Given the description of an element on the screen output the (x, y) to click on. 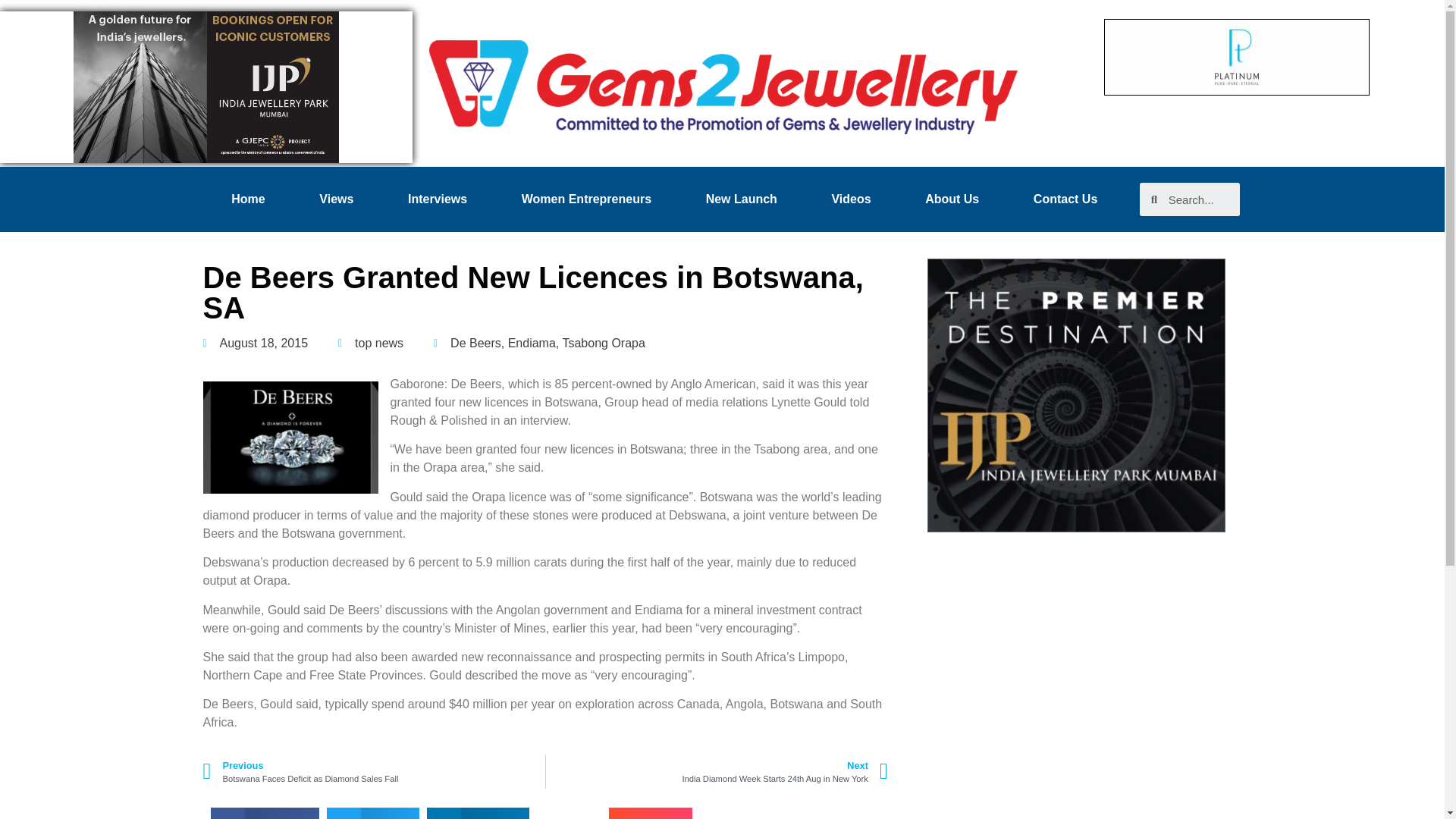
Tsabong Orapa (603, 342)
New Launch (741, 199)
Videos (851, 199)
Views (336, 199)
Endiama (532, 342)
Contact Us (1065, 199)
Home (717, 771)
Interviews (248, 199)
About Us (373, 771)
top news (437, 199)
August 18, 2015 (952, 199)
De Beers (379, 342)
Copy URL (255, 343)
